Given the description of an element on the screen output the (x, y) to click on. 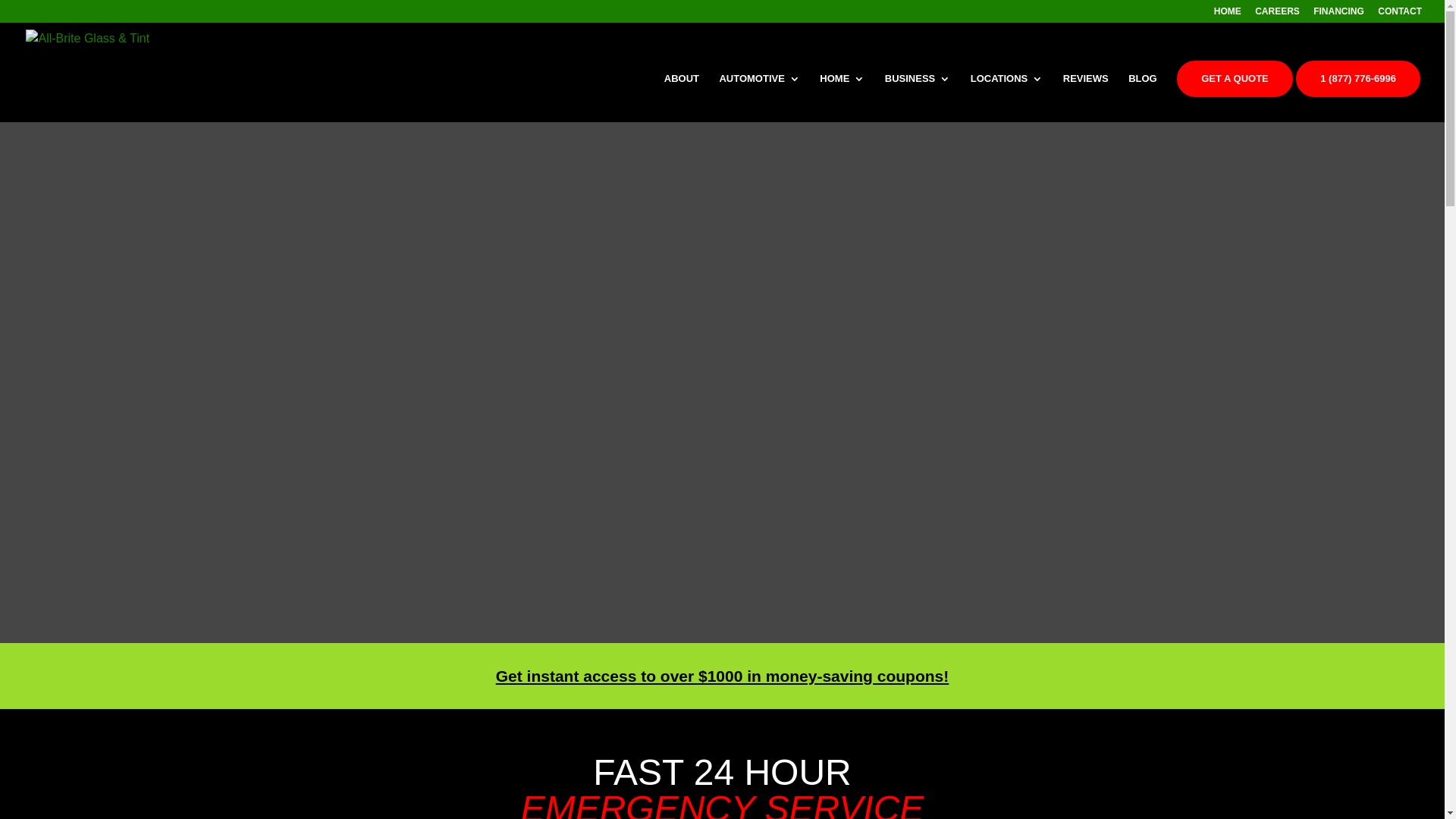
AUTOMOTIVE Element type: text (758, 97)
BLOG Element type: text (1142, 97)
CAREERS Element type: text (1277, 14)
HOME Element type: text (841, 97)
REVIEWS Element type: text (1085, 97)
FINANCING Element type: text (1338, 14)
GET A QUOTE Element type: text (1234, 78)
CONTACT Element type: text (1399, 14)
HOME Element type: text (1227, 14)
LOCATIONS Element type: text (1006, 97)
BUSINESS Element type: text (917, 97)
ABOUT Element type: text (681, 97)
1 (877) 776-6996 Element type: text (1357, 78)
